Given the description of an element on the screen output the (x, y) to click on. 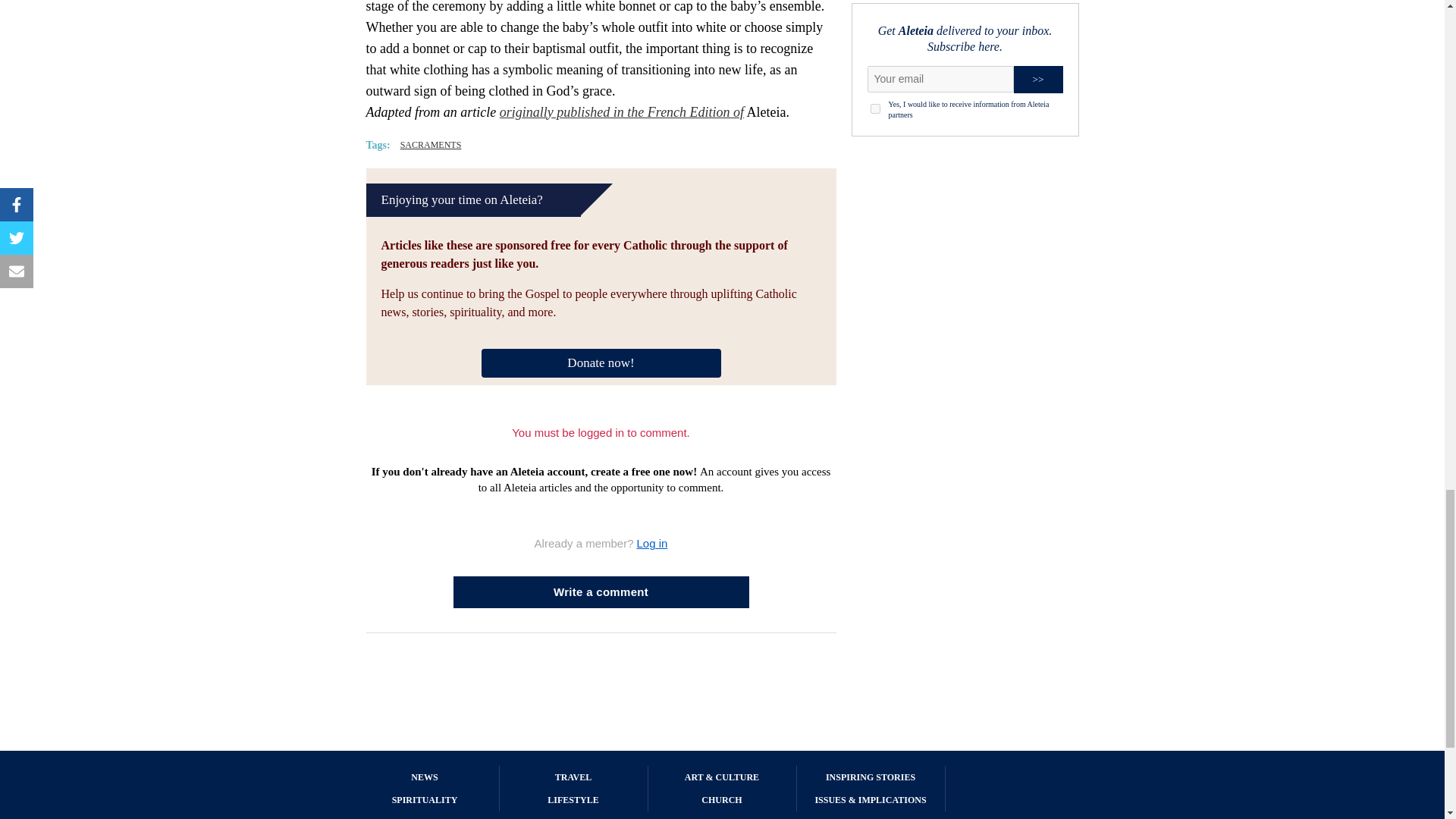
1 (875, 108)
